Given the description of an element on the screen output the (x, y) to click on. 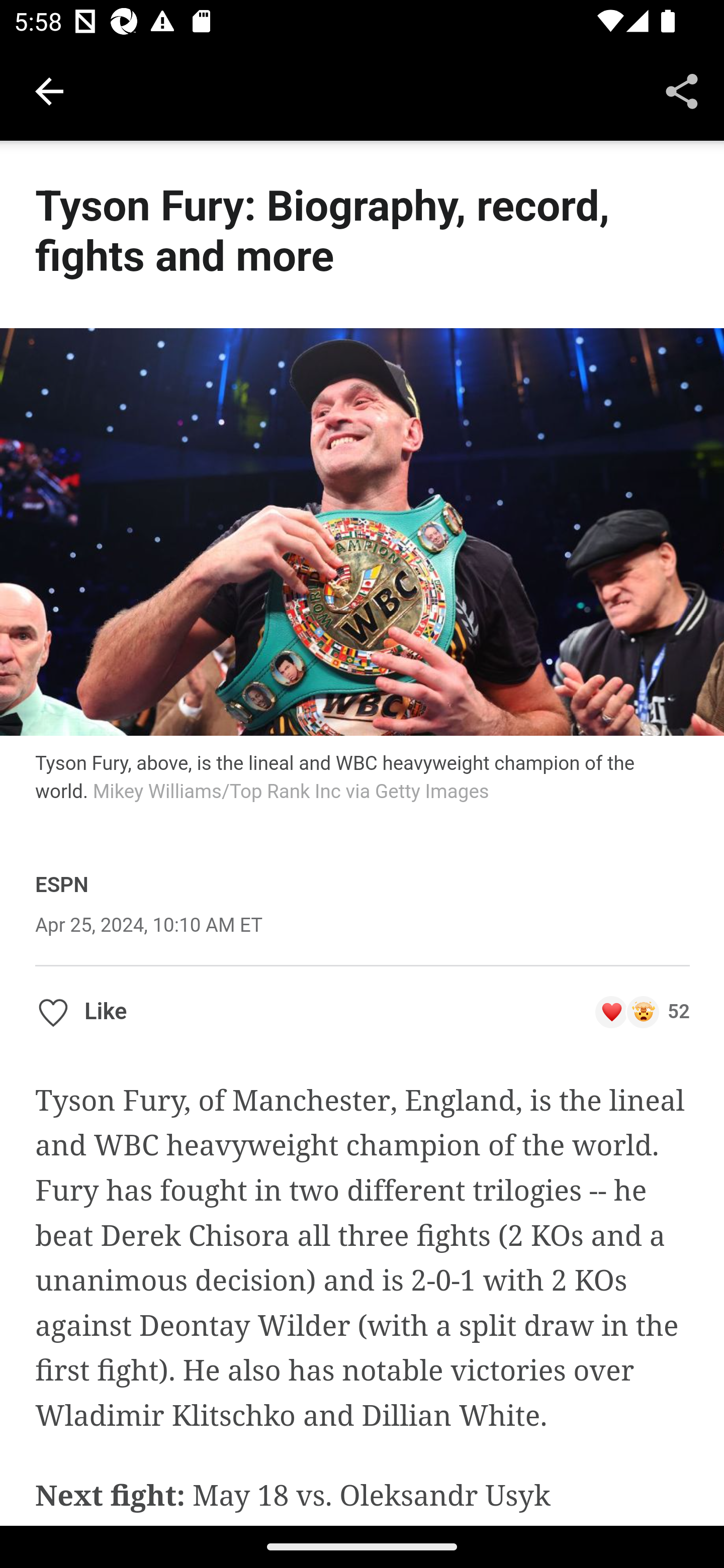
Navigate up (49, 91)
Share (681, 90)
